Given the description of an element on the screen output the (x, y) to click on. 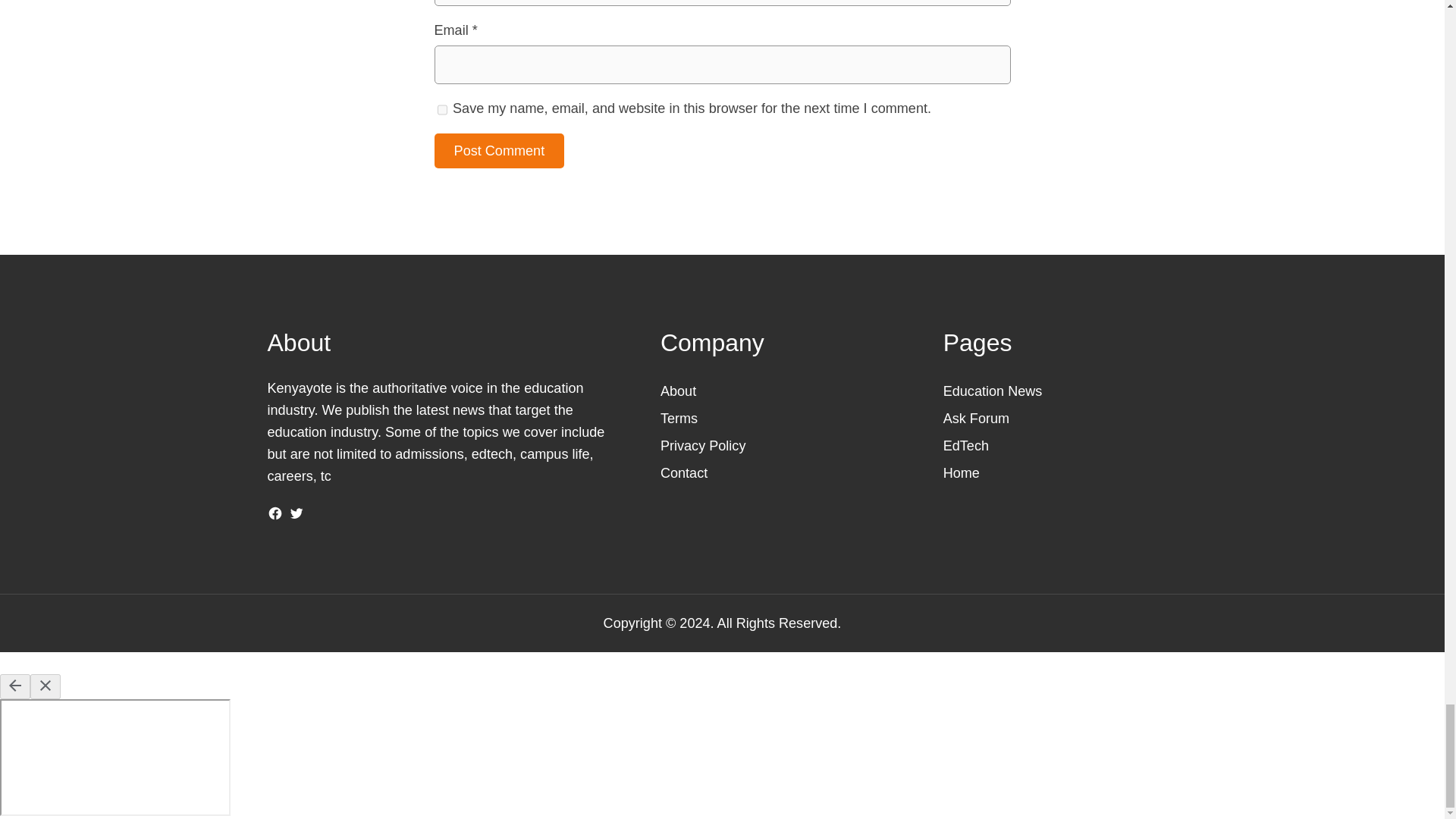
About (678, 391)
Home (961, 473)
Contact (684, 473)
Privacy Policy (703, 445)
Post Comment (498, 150)
Terms (679, 418)
Facebook (274, 513)
Education News (992, 391)
EdTech (965, 445)
Post Comment (498, 150)
